Given the description of an element on the screen output the (x, y) to click on. 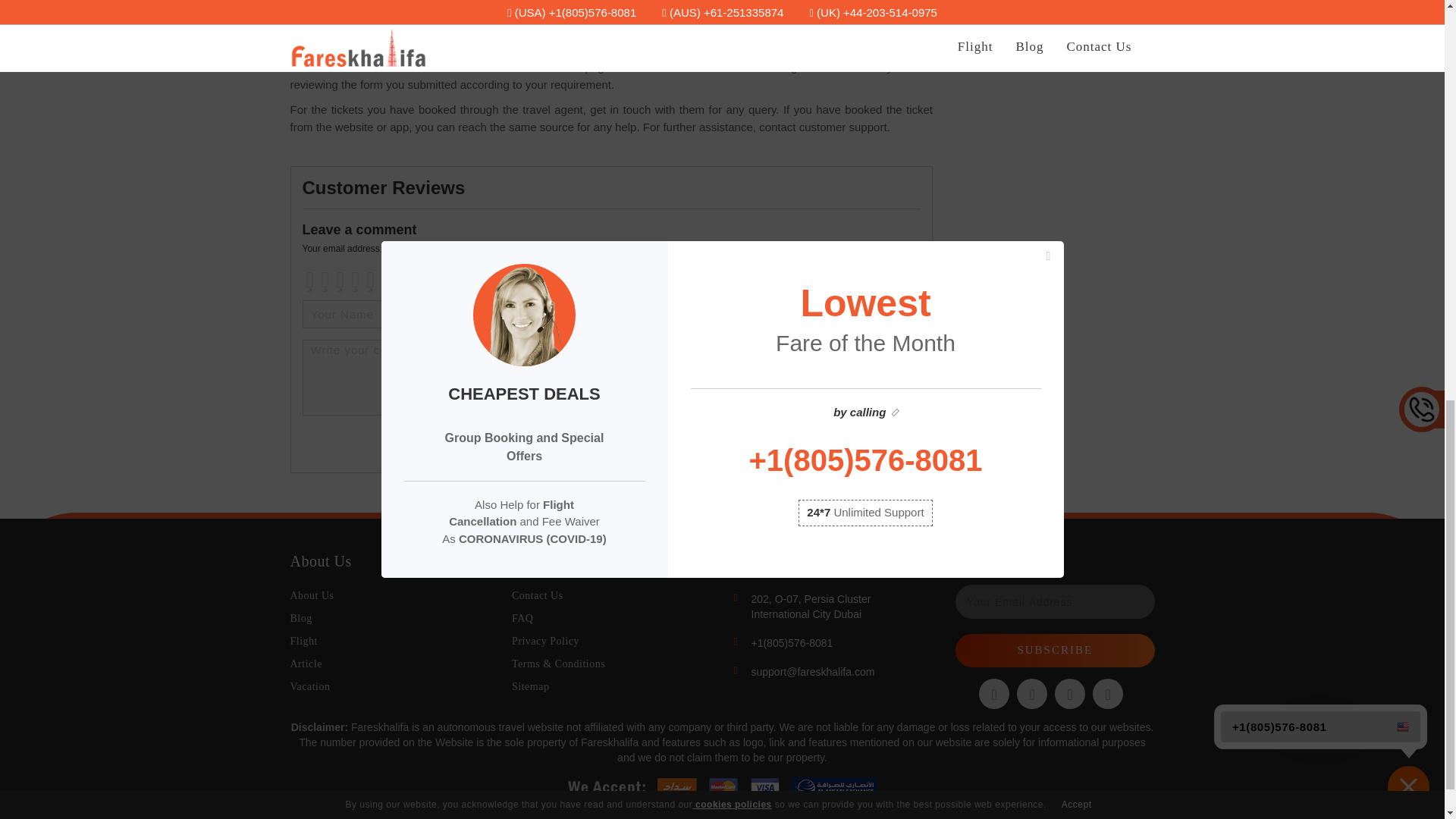
About Us (311, 595)
Subscribe (1054, 649)
Flight (303, 641)
Blog (300, 618)
Vacation (309, 686)
Article (305, 663)
Submit (883, 443)
